Given the description of an element on the screen output the (x, y) to click on. 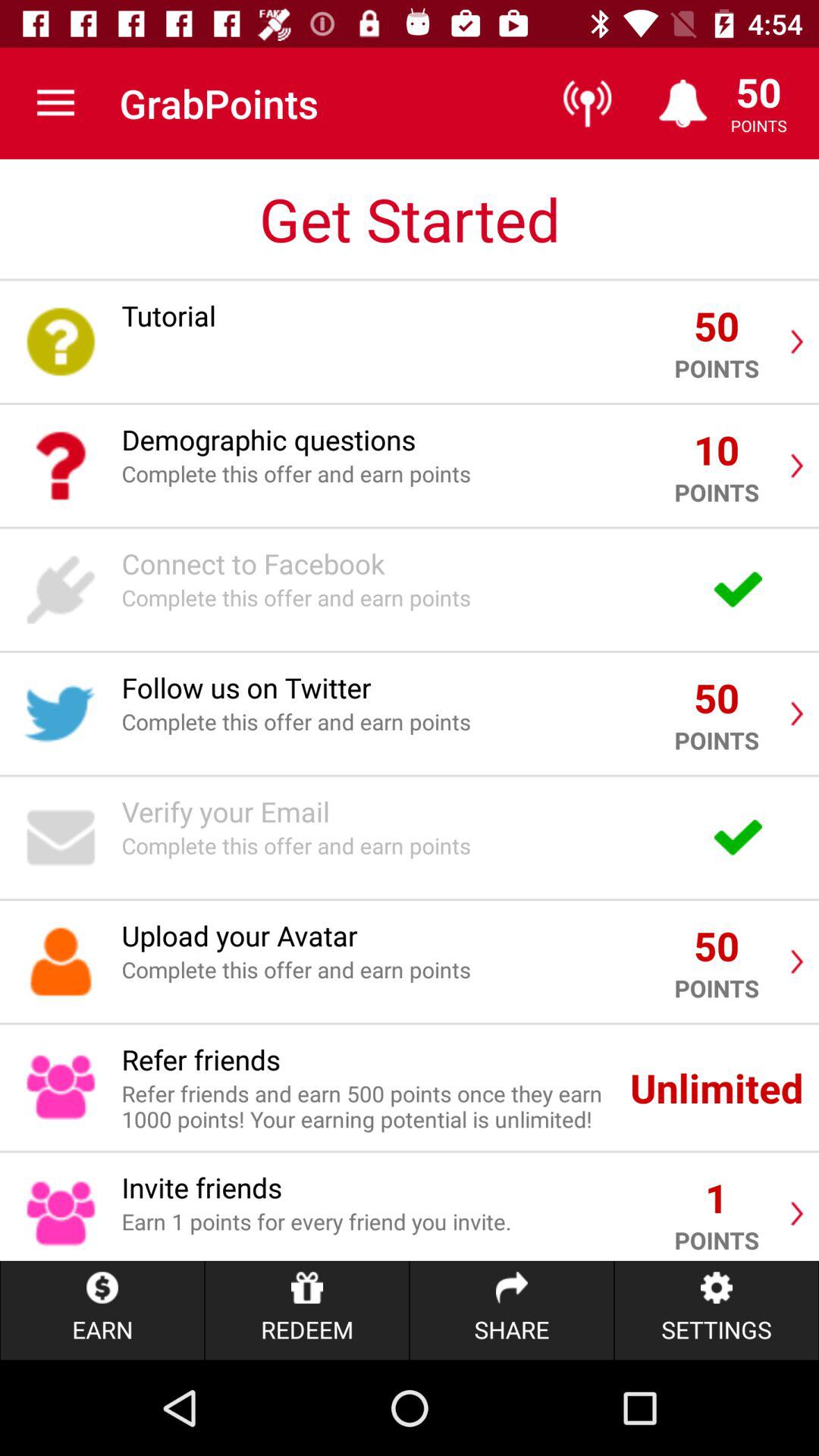
choose settings item (716, 1310)
